Given the description of an element on the screen output the (x, y) to click on. 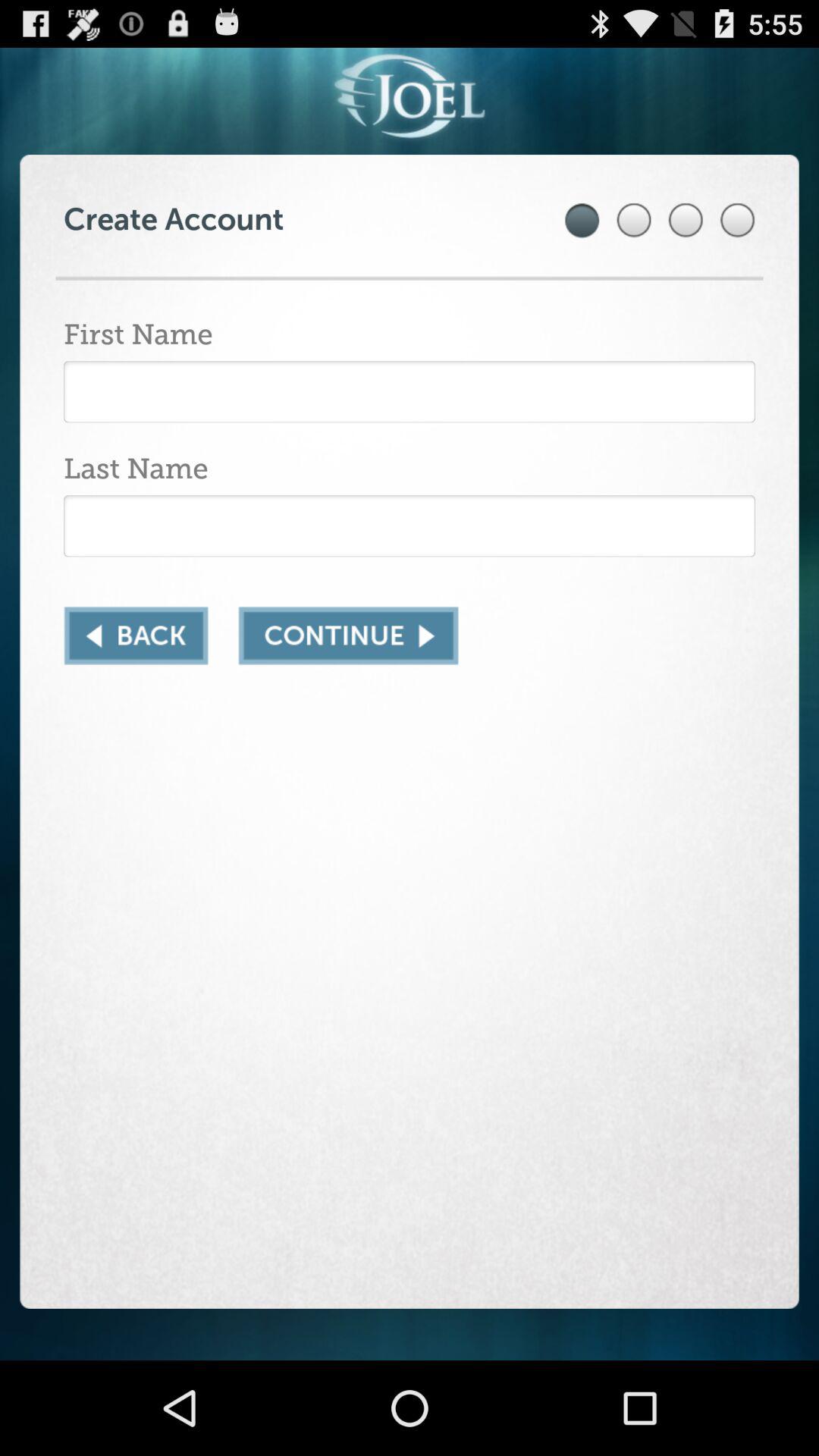
return to the previous page (135, 635)
